Given the description of an element on the screen output the (x, y) to click on. 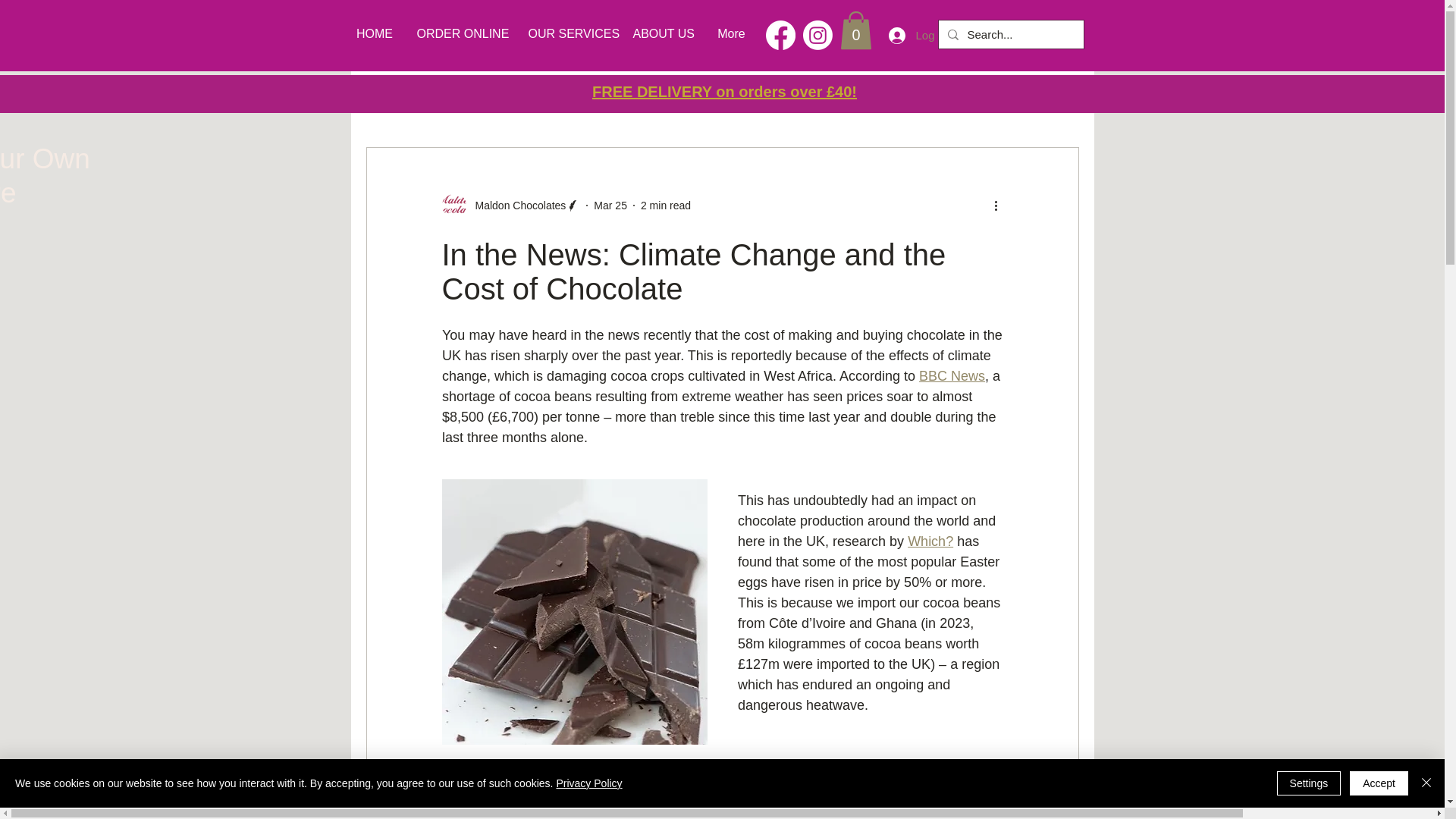
ORDER ONLINE (460, 34)
BBC News (951, 376)
New Products (630, 101)
News (452, 101)
Mar 25 (610, 205)
HOME (374, 34)
All Posts (387, 101)
Maldon Chocolates (510, 205)
Newsletters (724, 101)
Special Offers (531, 101)
